Given the description of an element on the screen output the (x, y) to click on. 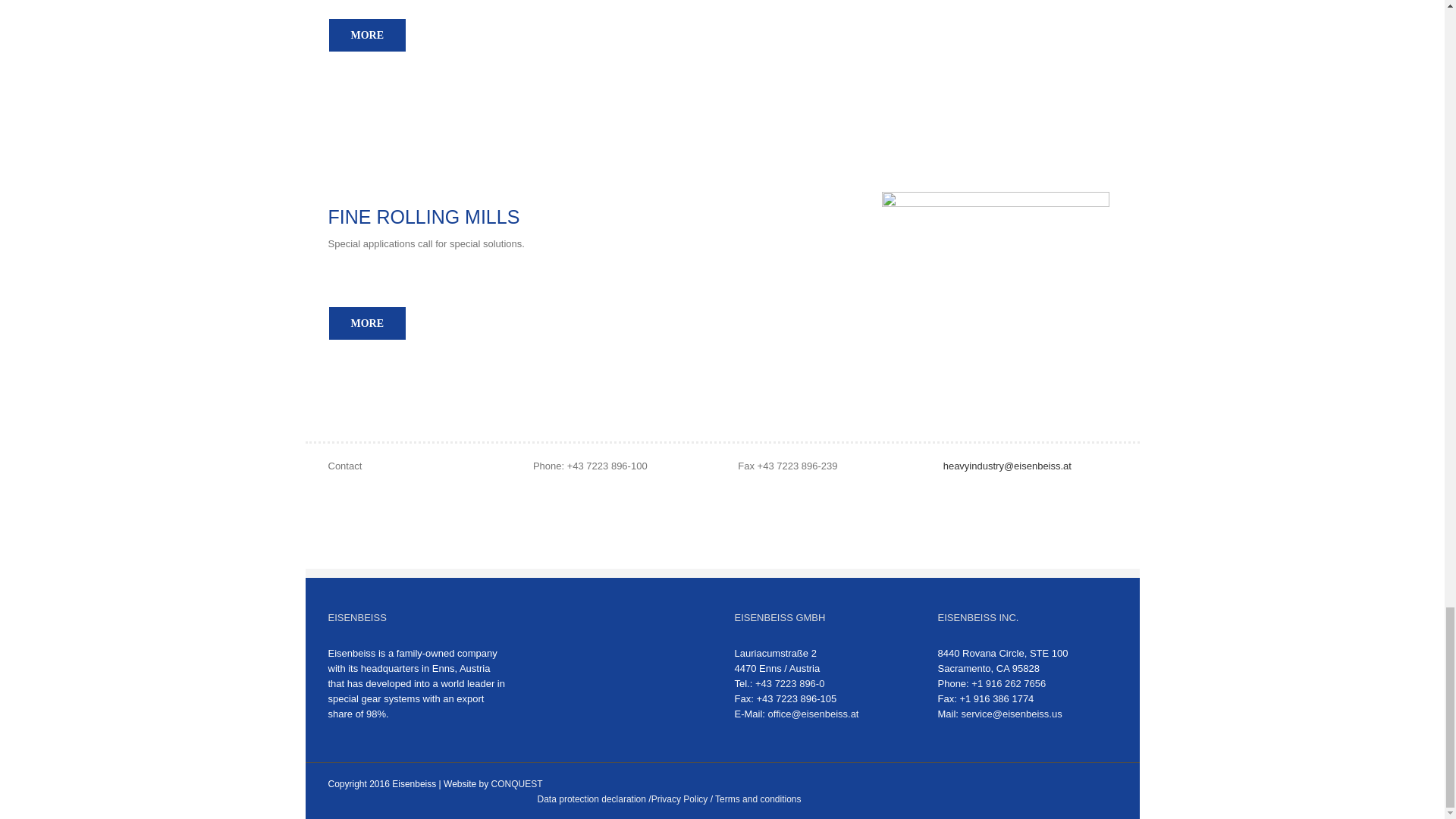
Privacy Policy Eisenbeiss (678, 798)
Conquest Werbeagentur (517, 783)
Data protection declaration Eisenbeiss (591, 798)
